Given the description of an element on the screen output the (x, y) to click on. 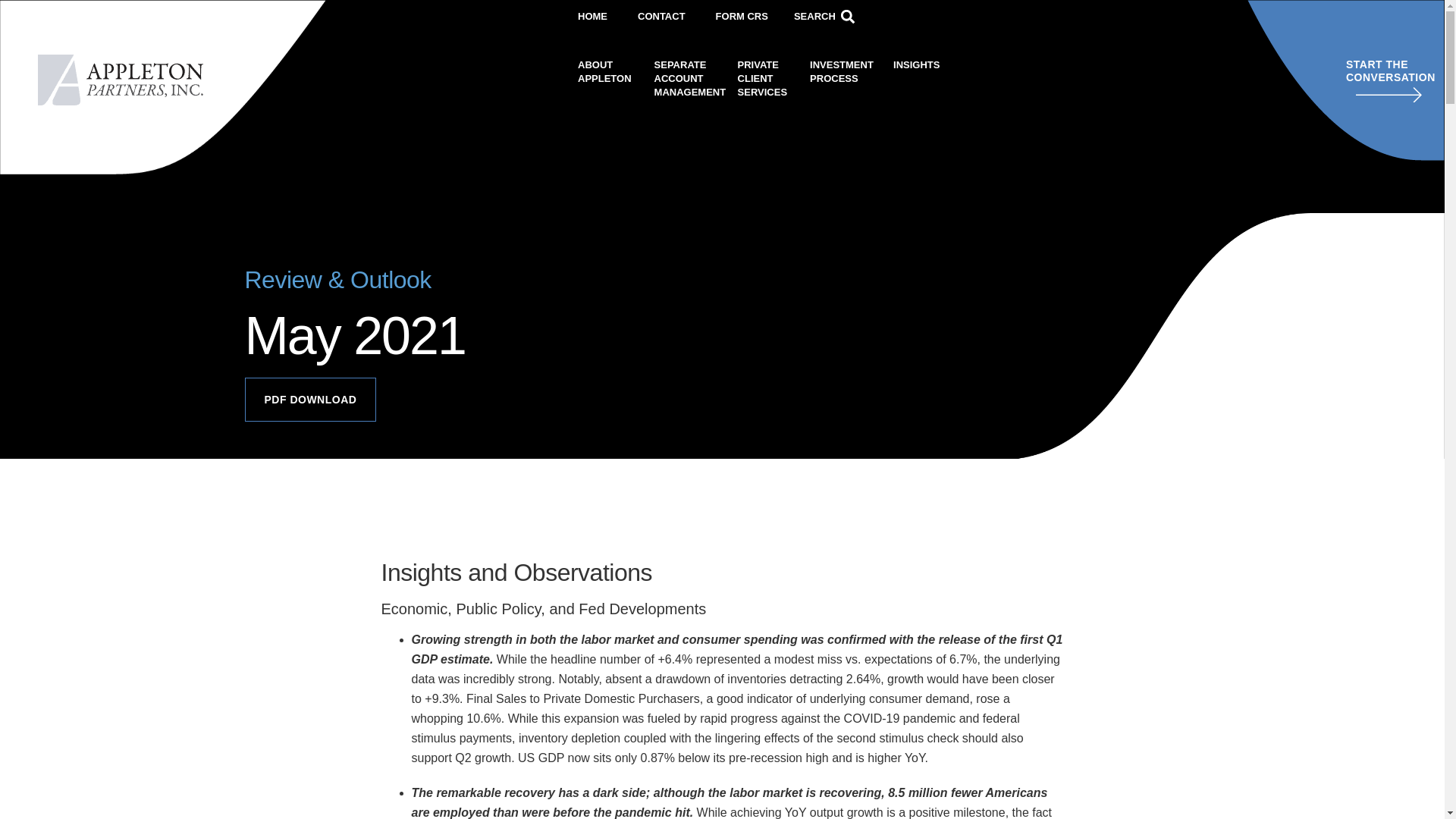
FORM CRS (608, 71)
CONTACT (742, 16)
